Given the description of an element on the screen output the (x, y) to click on. 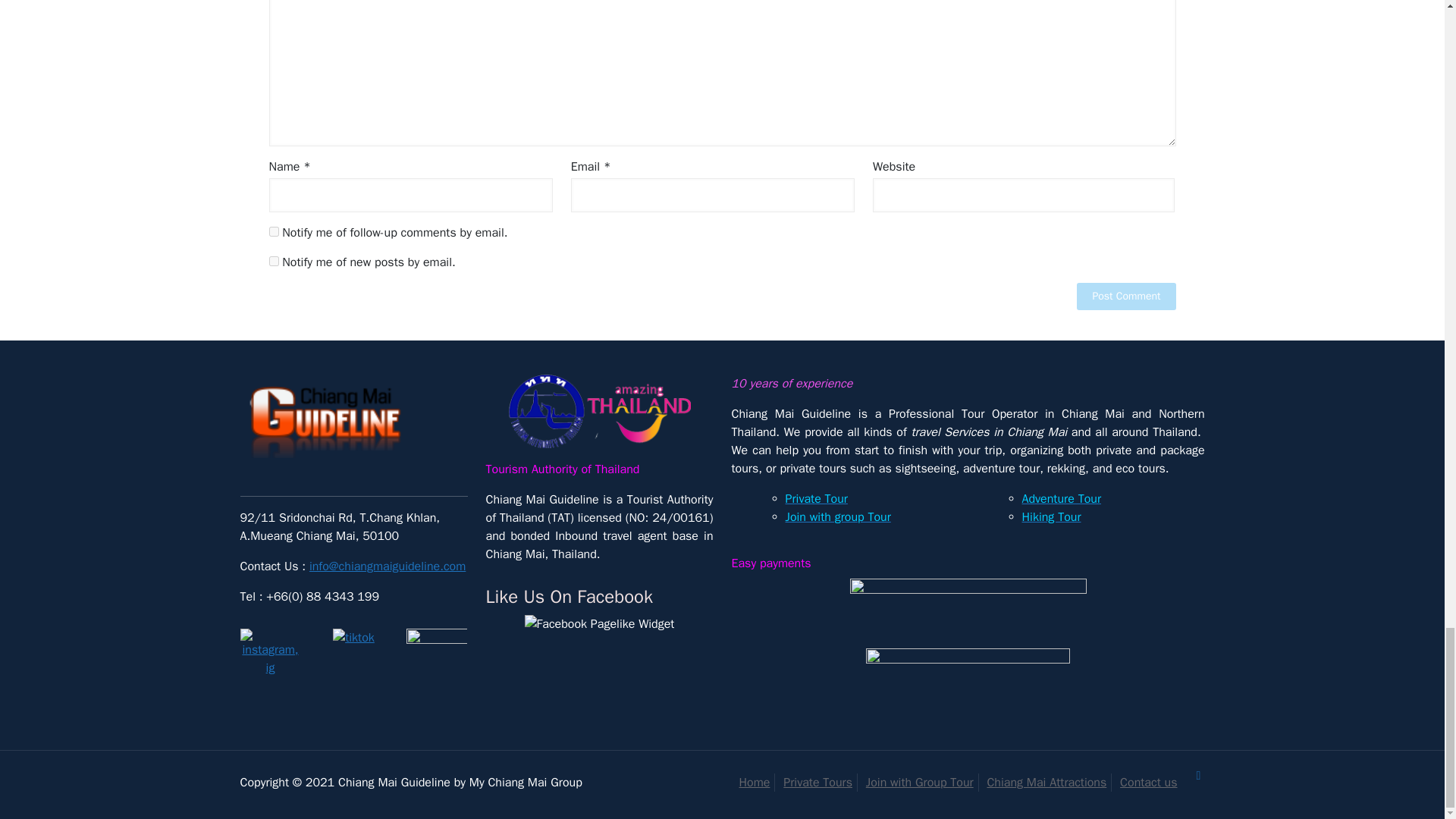
Post Comment (1125, 296)
subscribe (272, 231)
2 (436, 658)
instagram, ig (269, 652)
Post Comment (1125, 296)
tiktok (353, 637)
subscribe (272, 261)
